Given the description of an element on the screen output the (x, y) to click on. 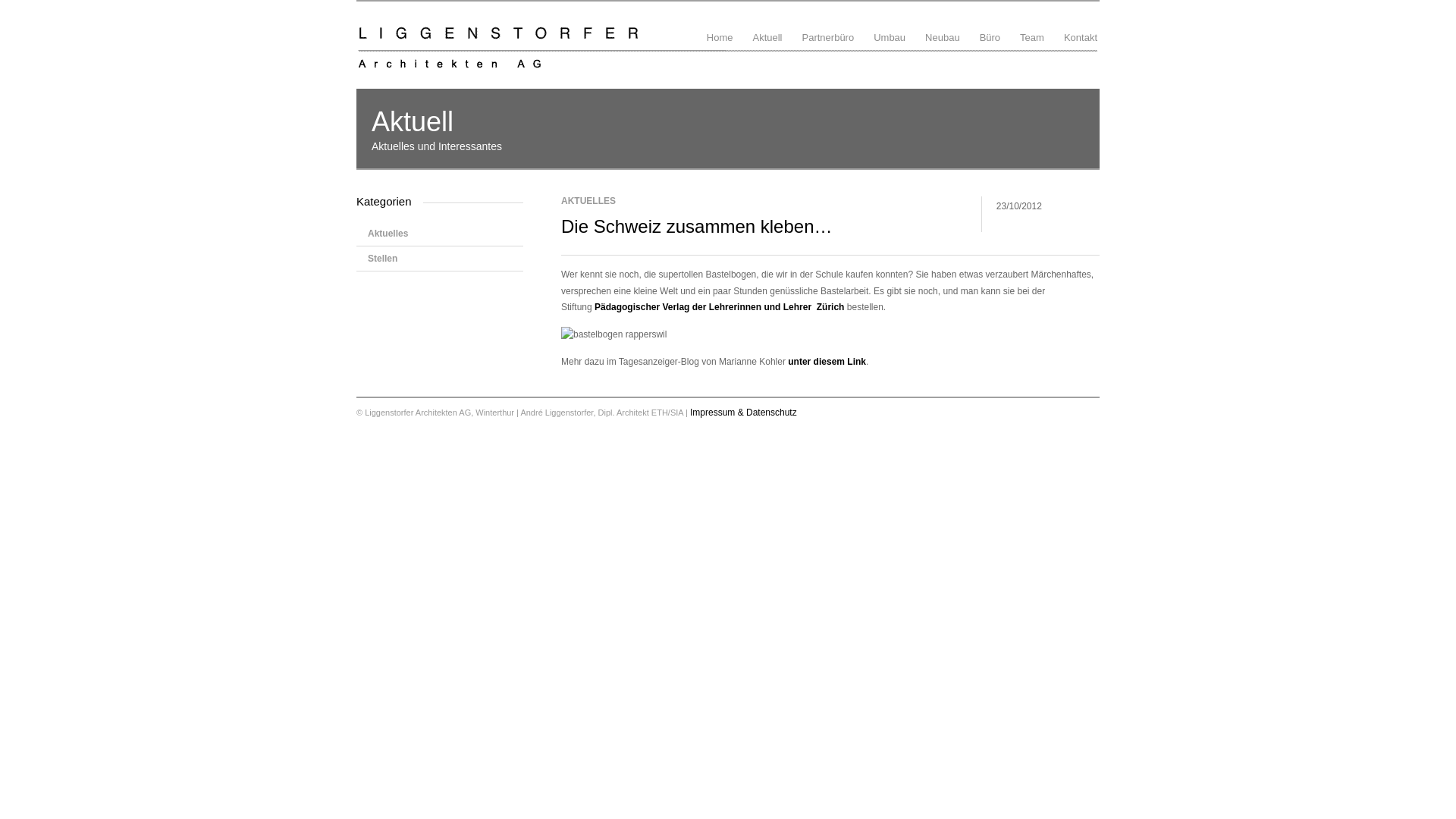
Aktuell Element type: text (766, 25)
Stellen Element type: text (439, 258)
Impressum & Datenschutz Element type: text (743, 412)
unter diesem Link Element type: text (826, 361)
AKTUELLES Element type: text (588, 200)
Team Element type: text (1031, 25)
Kontakt Element type: text (1080, 25)
Neubau Element type: text (942, 25)
Aktuelles Element type: text (439, 233)
Umbau Element type: text (889, 25)
Home Element type: text (719, 25)
